Given the description of an element on the screen output the (x, y) to click on. 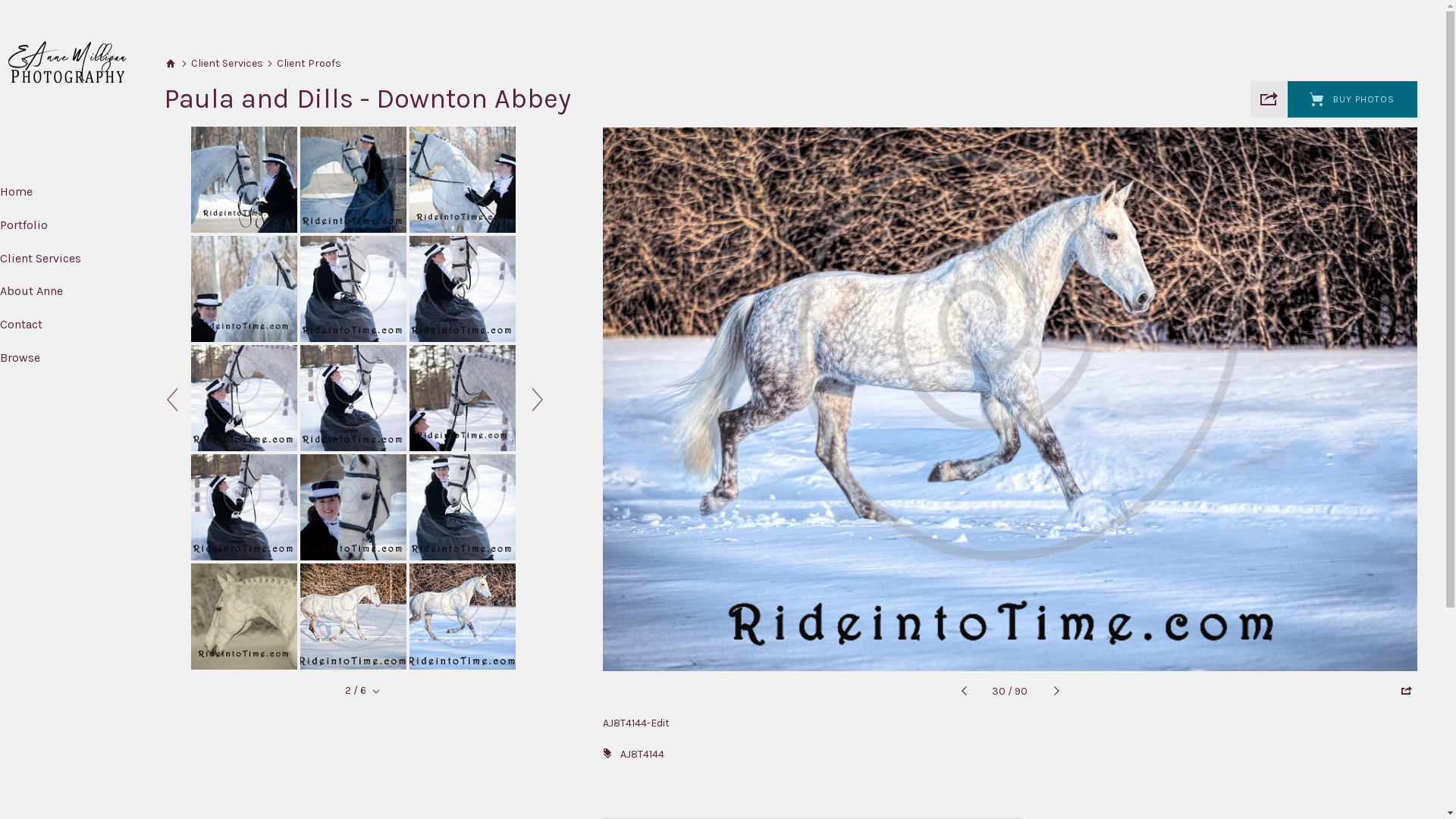
AJ8T4144 Element type: text (643, 753)
Client Services Element type: text (227, 63)
Contact Element type: text (21, 323)
About Anne Element type: text (31, 290)
Share Gallery Element type: hover (1268, 99)
Browse Element type: text (20, 357)
AngleBracketDown Element type: hover (375, 691)
Client Proofs Element type: text (308, 63)
BUY PHOTOS Element type: text (1352, 99)
Share Element type: hover (1405, 690)
Client Services Element type: text (40, 258)
Portfolio Element type: text (23, 224)
Home Element type: text (16, 191)
